Given the description of an element on the screen output the (x, y) to click on. 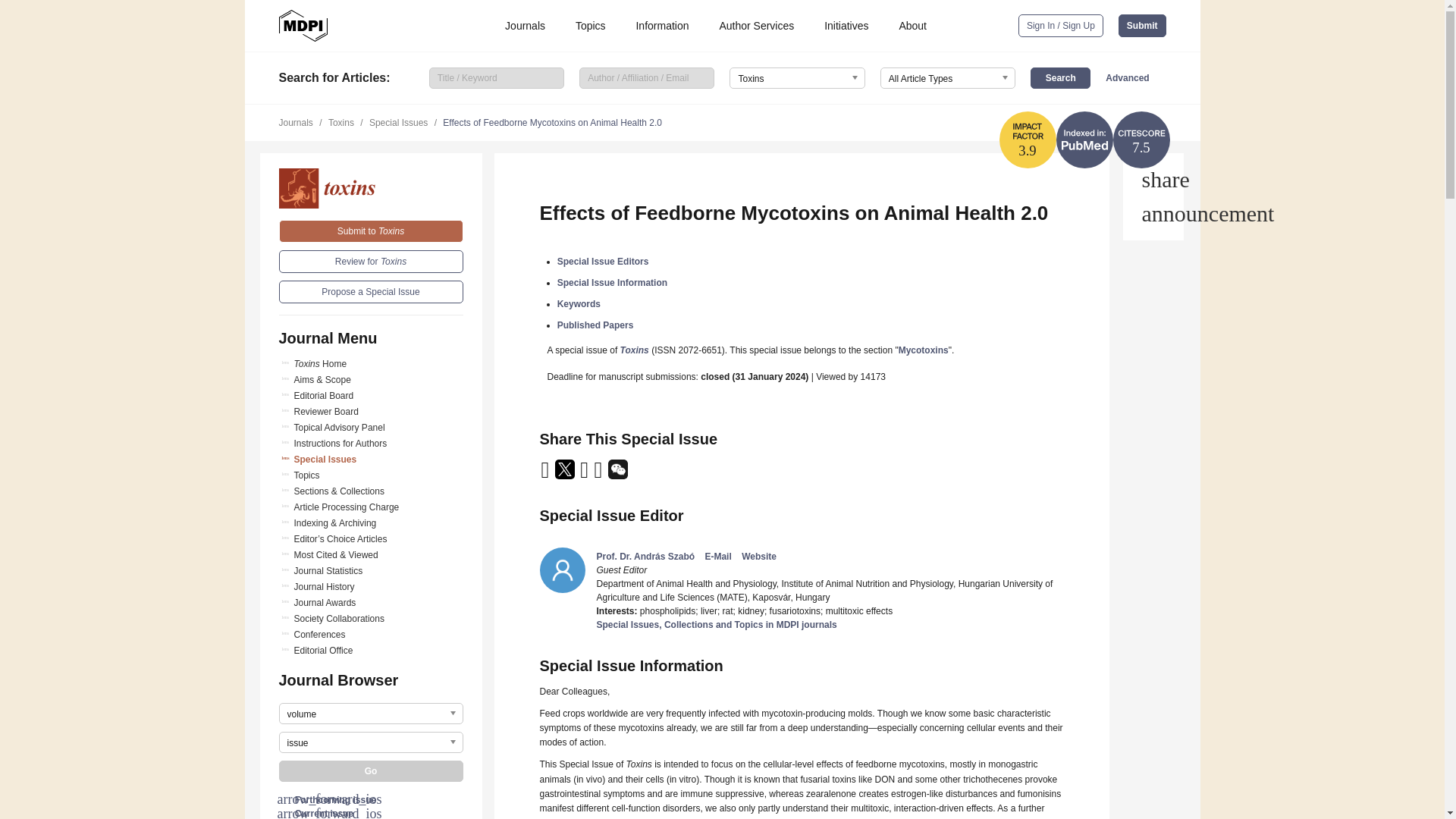
Email (546, 474)
Toxins (371, 188)
MDPI Open Access Journals (303, 25)
Twitter (565, 474)
Search (1060, 77)
Go (371, 771)
facebook (599, 474)
Share (1152, 179)
LinkedIn (585, 474)
Help (1152, 213)
